Given the description of an element on the screen output the (x, y) to click on. 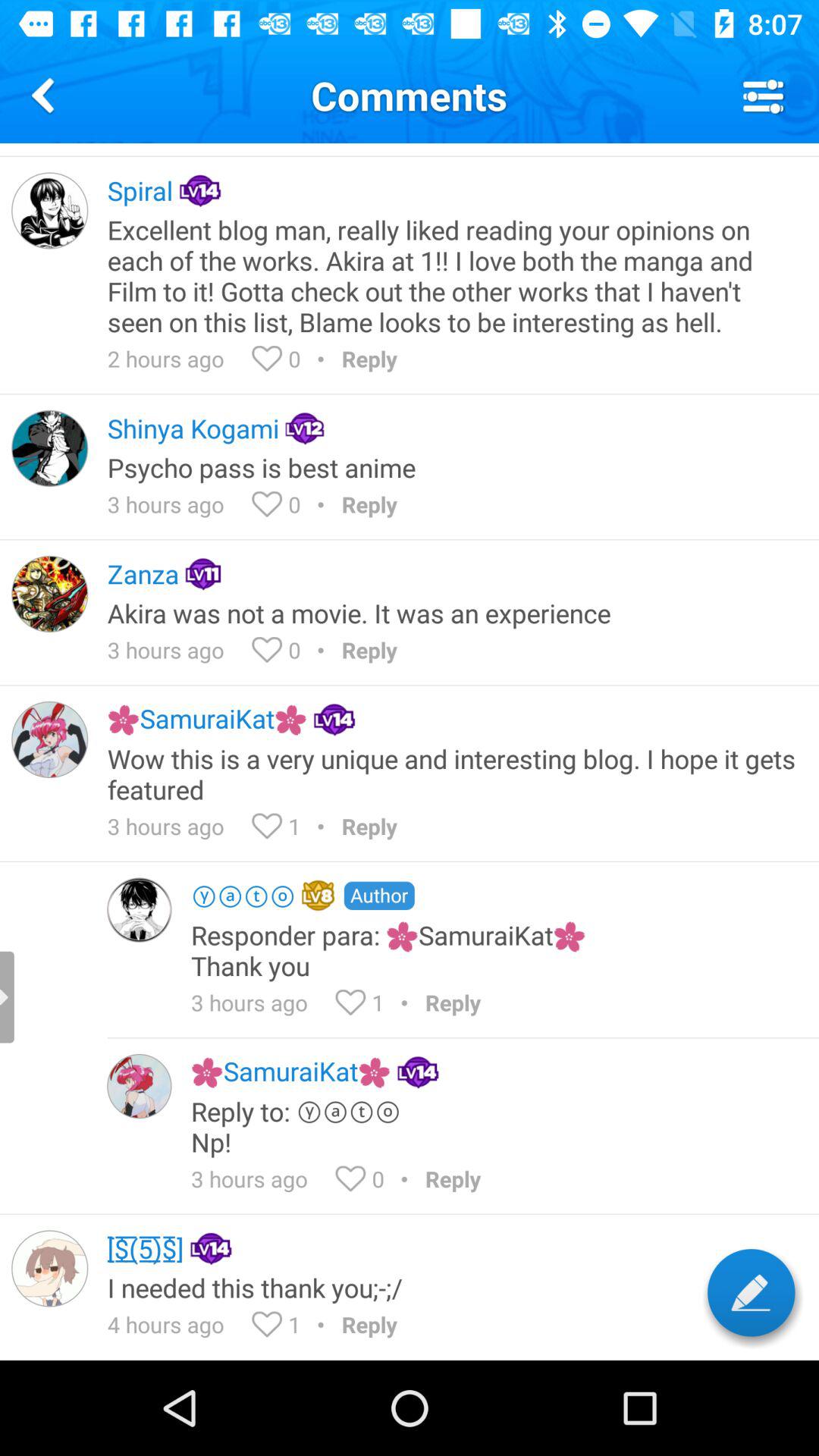
choose app above 2 hours ago icon (453, 275)
